Given the description of an element on the screen output the (x, y) to click on. 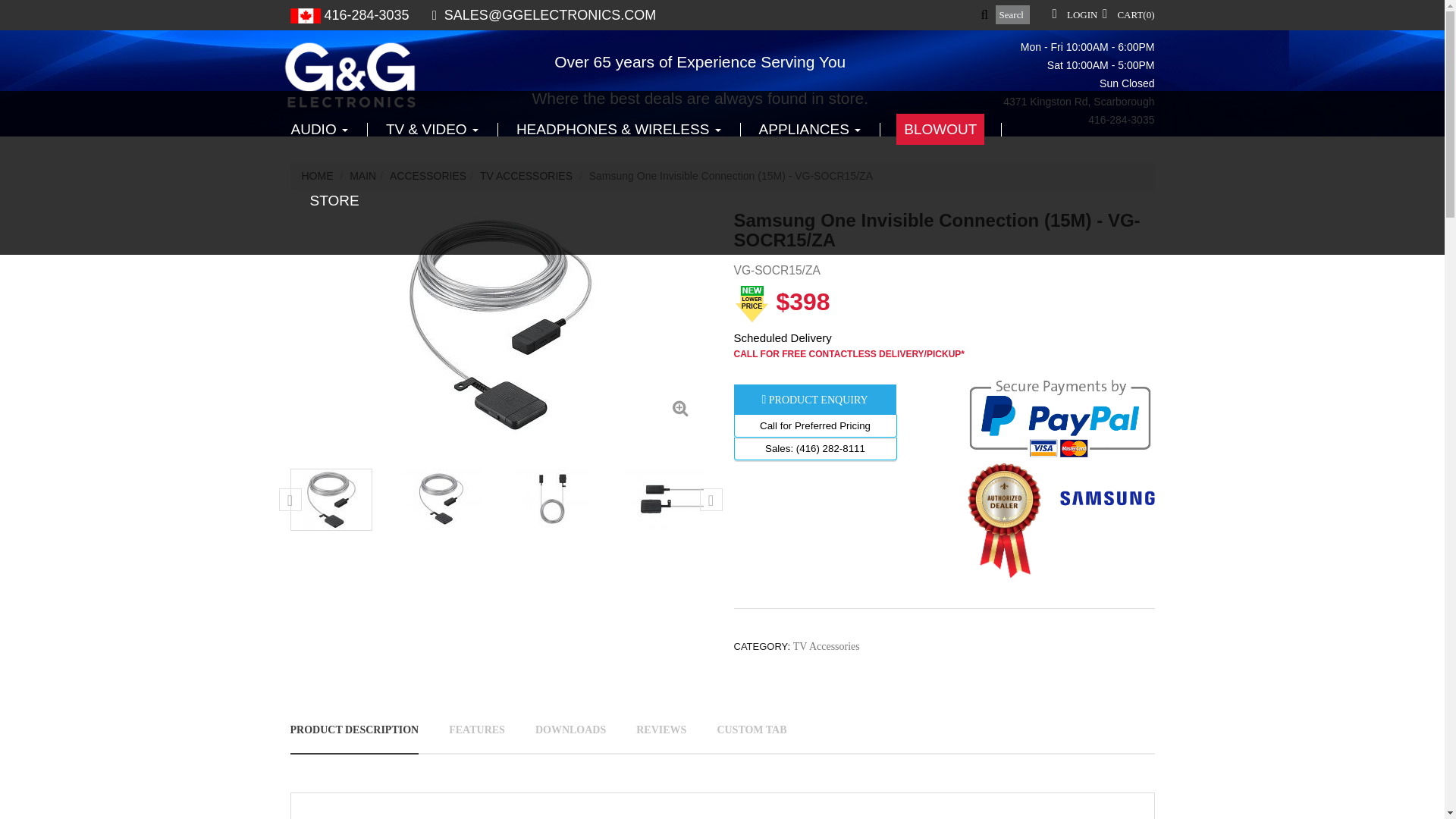
Shipping only in Canada (304, 15)
416-284-3035 (1120, 119)
AUDIO (328, 129)
416-284-3035 (366, 14)
LOGIN (1082, 14)
